Given the description of an element on the screen output the (x, y) to click on. 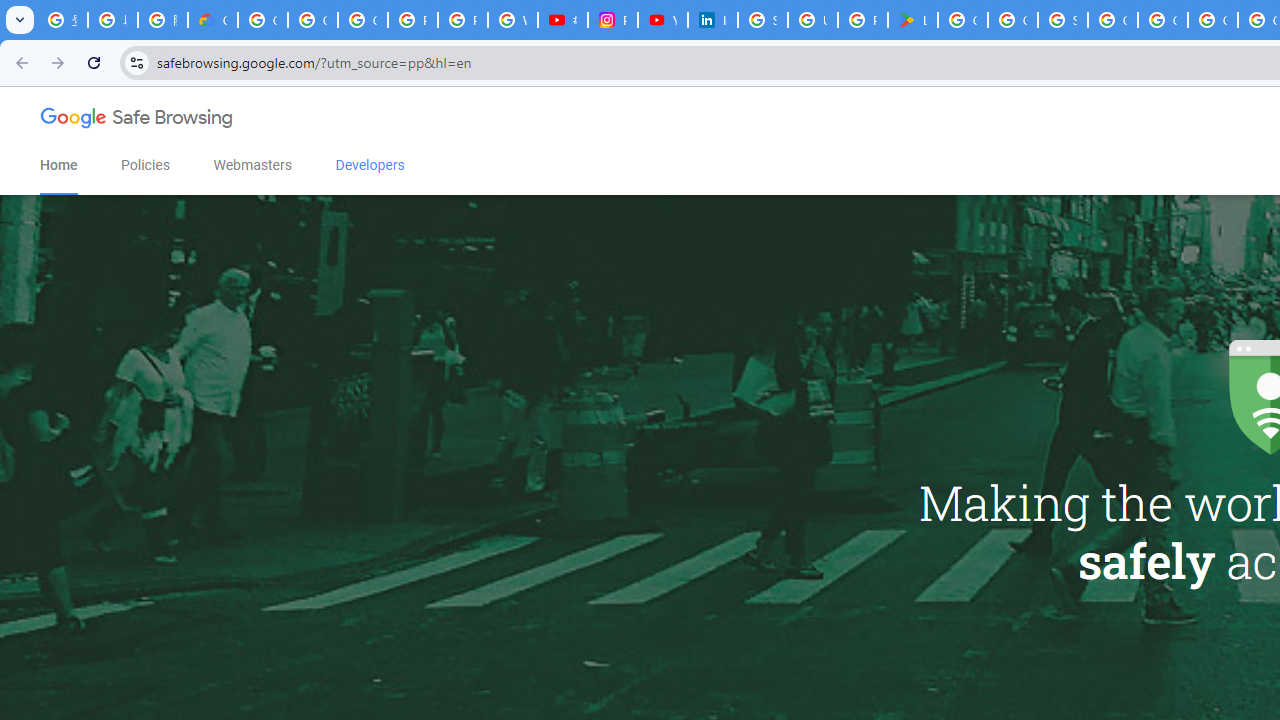
Webmasters (251, 165)
